Given the description of an element on the screen output the (x, y) to click on. 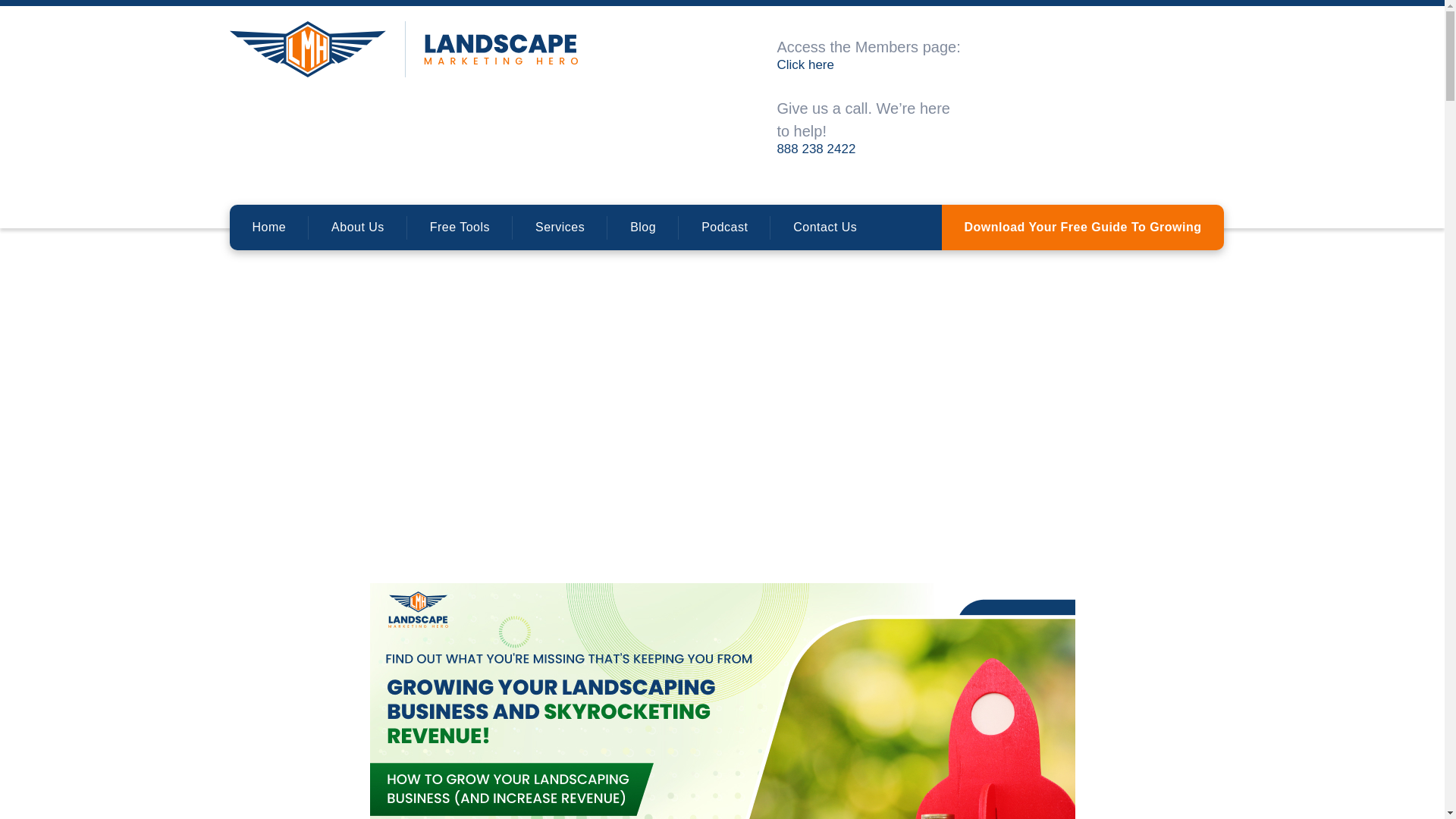
Contact Us (824, 227)
Podcast (724, 227)
Download Your Free Guide To Growing (1083, 227)
About Us (357, 227)
Free Tools (459, 227)
888 238 2422 (816, 148)
Blog (642, 227)
Click here (805, 64)
Home (268, 227)
Services (559, 227)
